Given the description of an element on the screen output the (x, y) to click on. 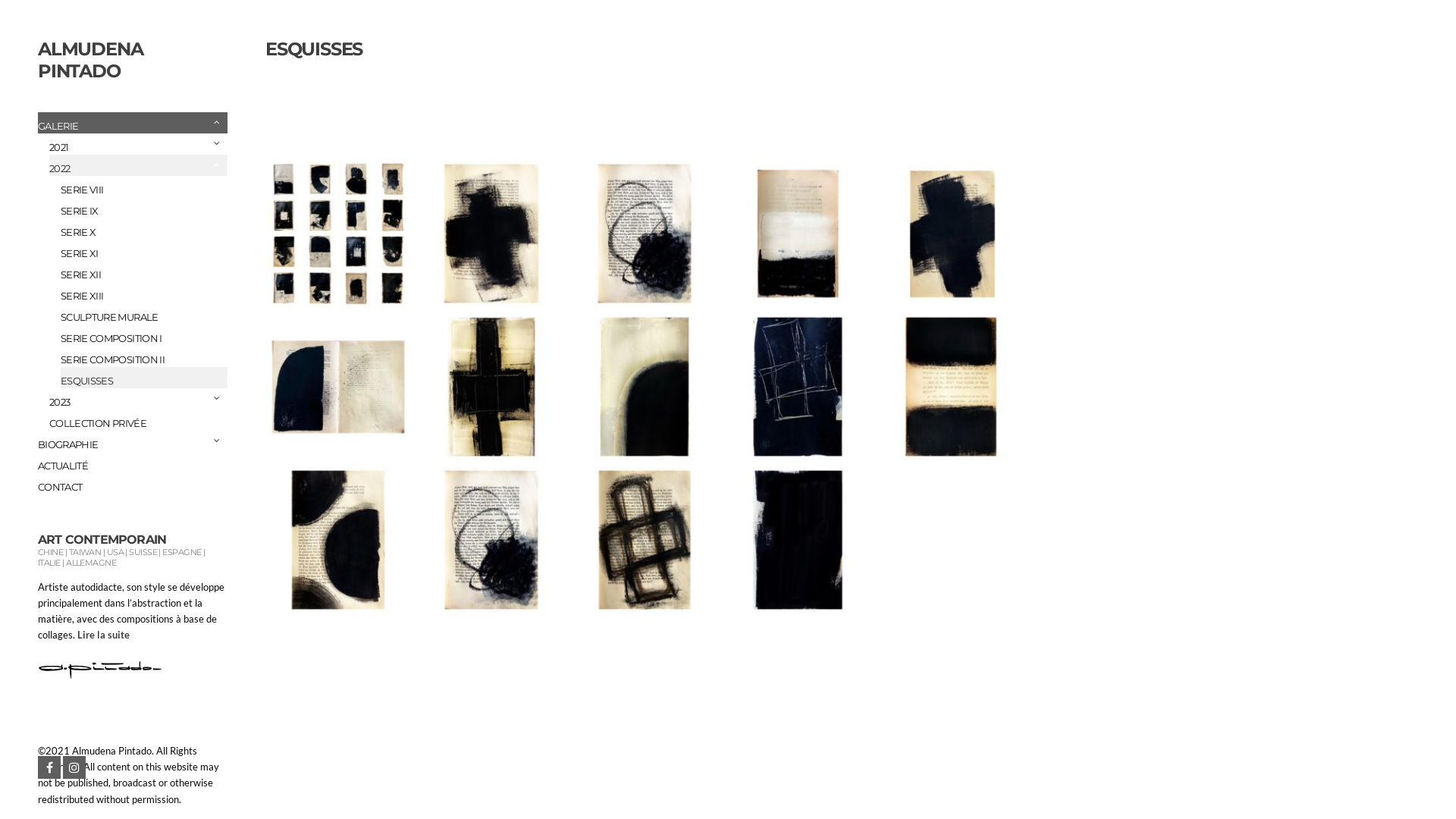
ESQUISSES Element type: text (143, 377)
SERIE X Element type: text (143, 228)
2021 Element type: text (138, 143)
GALERIE Element type: text (132, 122)
SERIE XII Element type: text (143, 271)
SERIE COMPOSITION I Element type: text (143, 334)
SERIE COMPOSITION II Element type: text (143, 356)
2023 Element type: text (138, 398)
SERIE IX Element type: text (143, 207)
SERIE XIII Element type: text (143, 292)
SERIE VIII Element type: text (143, 186)
CONTACT Element type: text (132, 483)
SCULPTURE MURALE Element type: text (143, 313)
ALMUDENA PINTADO Element type: text (89, 59)
SERIE XI Element type: text (143, 249)
2022 Element type: text (138, 164)
Lire la suite Element type: text (103, 634)
BIOGRAPHIE Element type: text (132, 440)
